Given the description of an element on the screen output the (x, y) to click on. 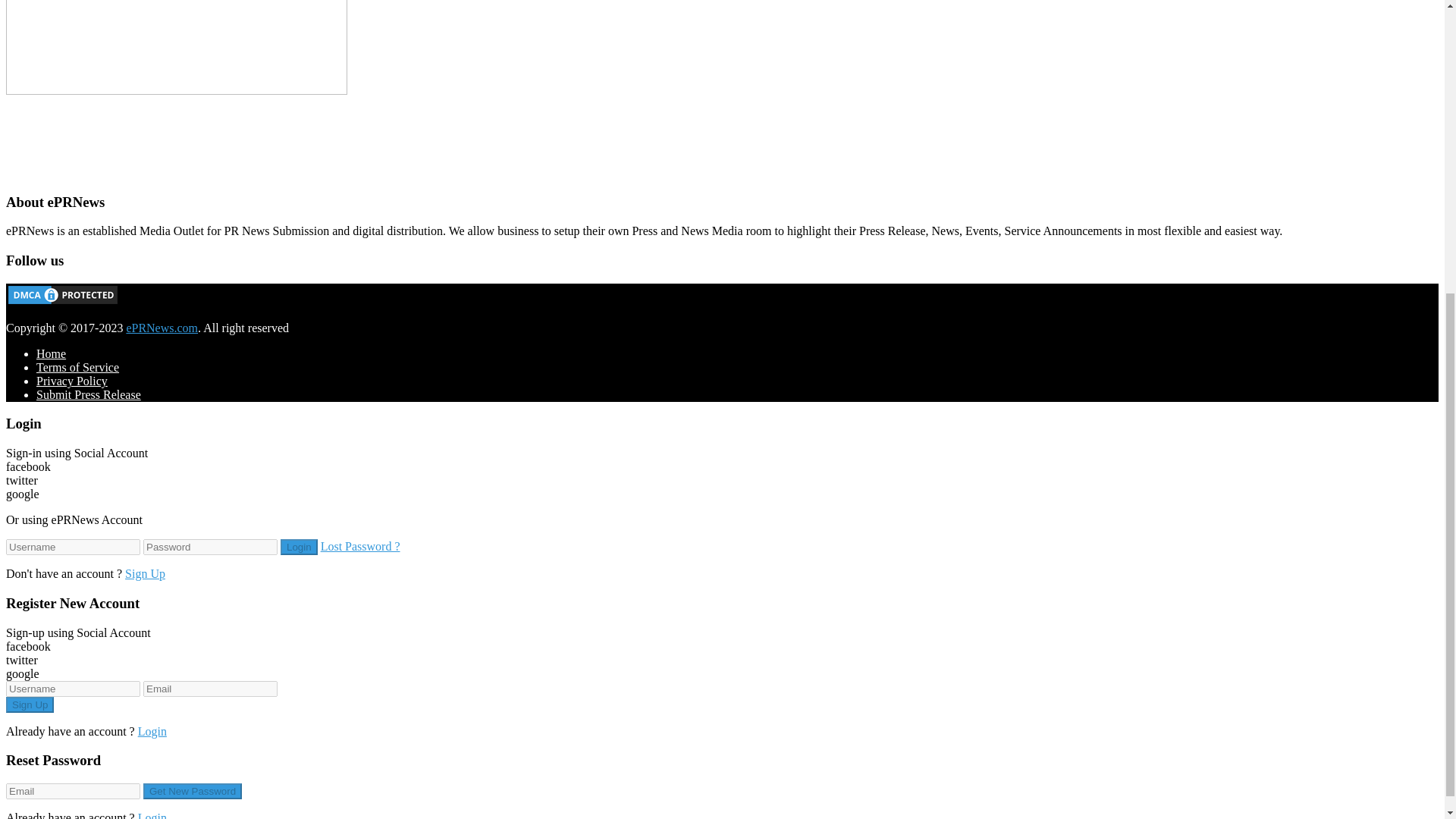
Get New Password (191, 790)
Sign Up (29, 704)
Lost Password ? (360, 545)
Login (299, 546)
Home (50, 353)
Terms of Service (77, 367)
DMCA.com Protection Status (62, 301)
Login (299, 546)
Privacy Policy (71, 380)
ePRNews.com (161, 327)
Sign Up (145, 573)
Sign Up (29, 704)
Submit Press Release (88, 394)
